Given the description of an element on the screen output the (x, y) to click on. 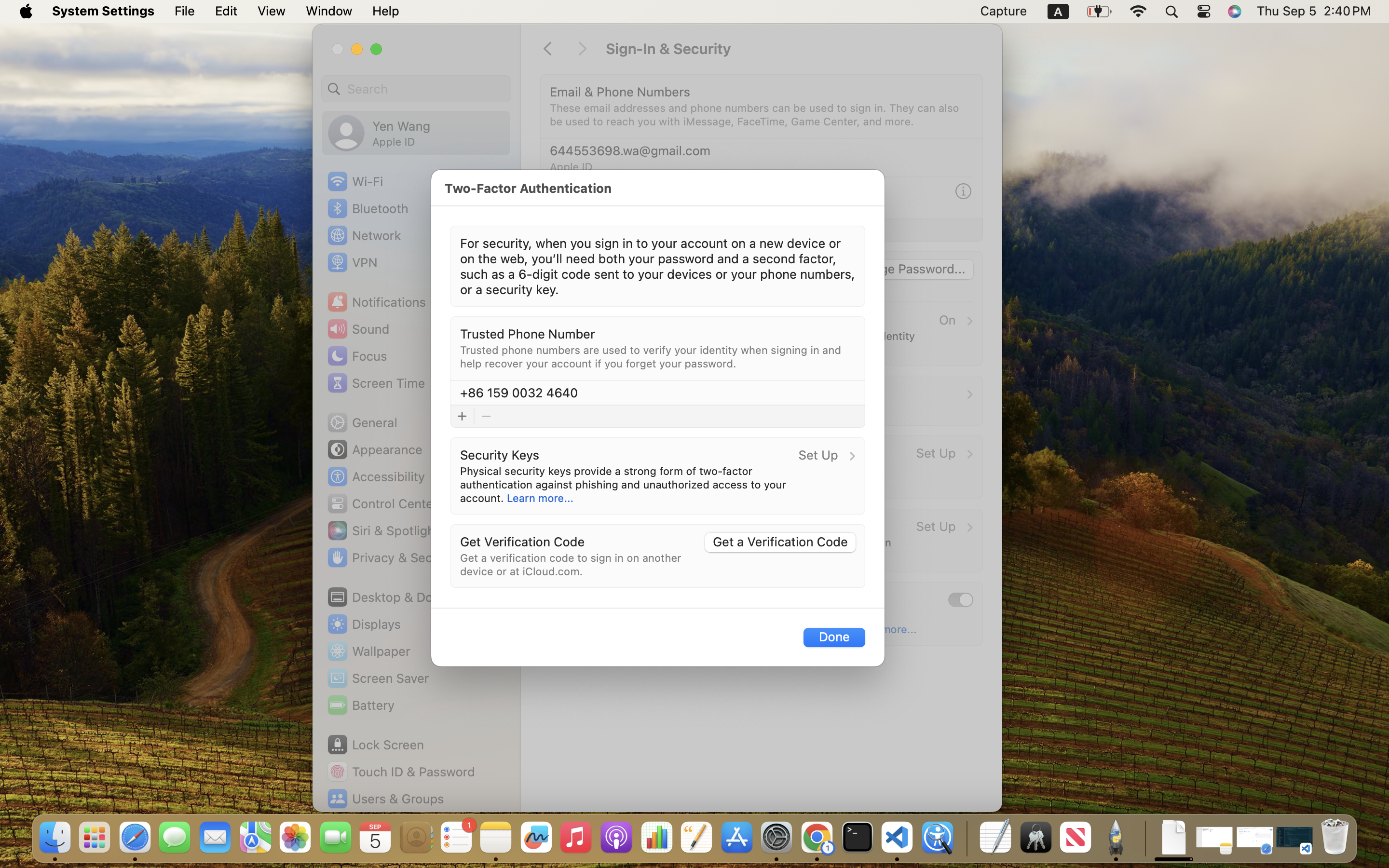
Accessibility Element type: AXStaticText (375, 476)
Apple ID Element type: AXStaticText (570, 166)
